Given the description of an element on the screen output the (x, y) to click on. 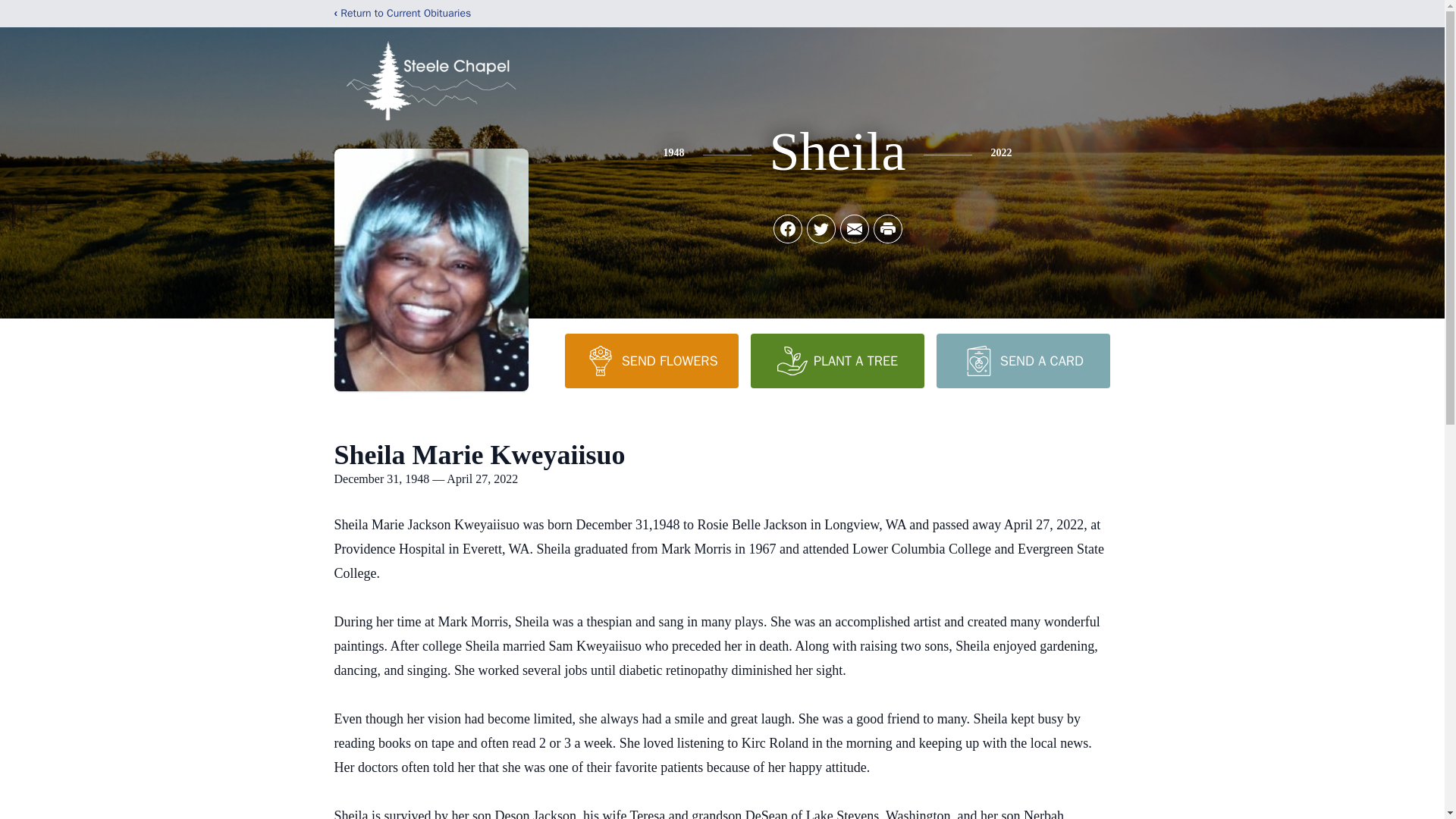
SEND A CARD (1022, 360)
SEND FLOWERS (651, 360)
PLANT A TREE (837, 360)
